Given the description of an element on the screen output the (x, y) to click on. 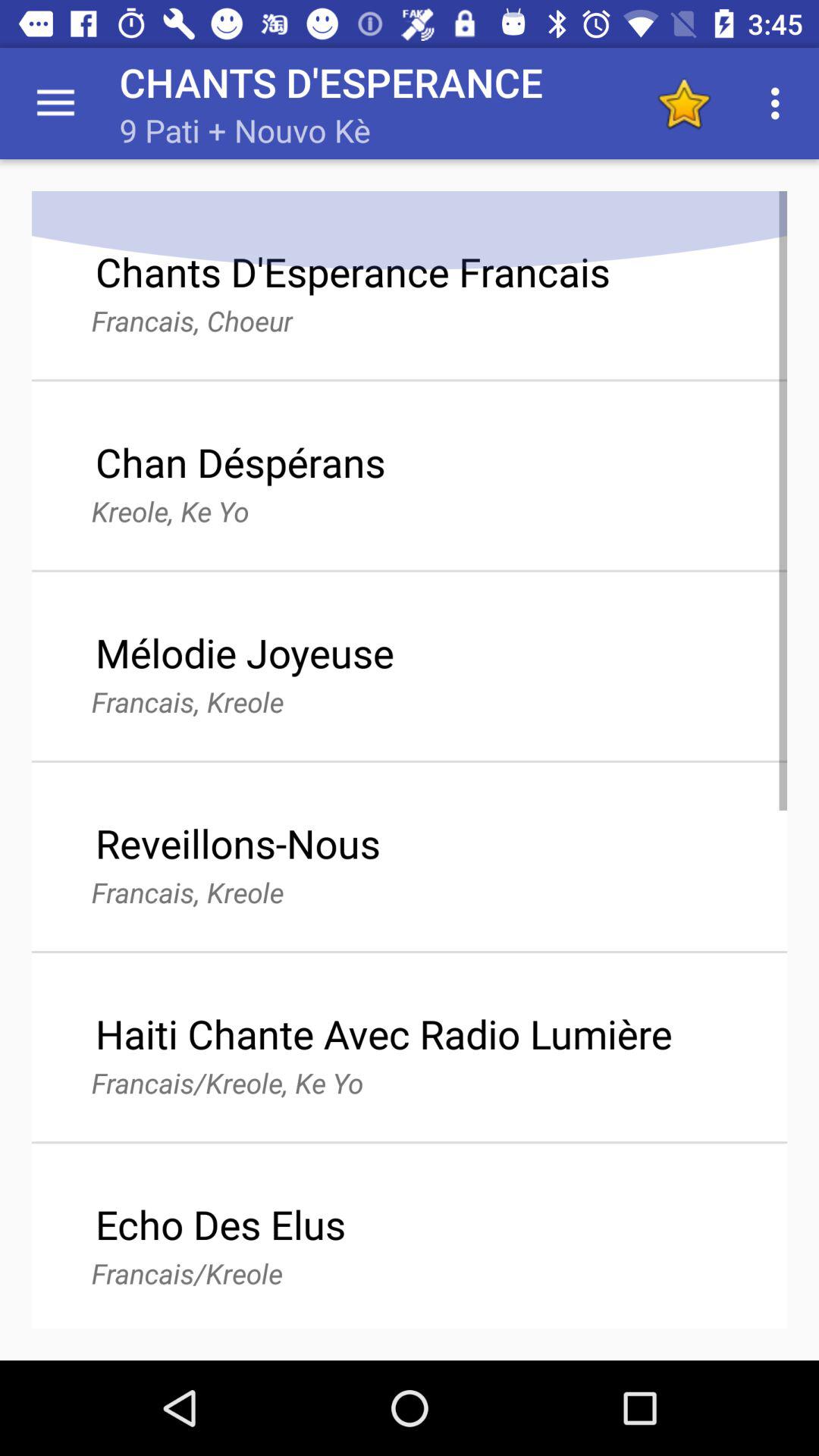
turn on the icon above the francais, kreole icon (244, 652)
